Given the description of an element on the screen output the (x, y) to click on. 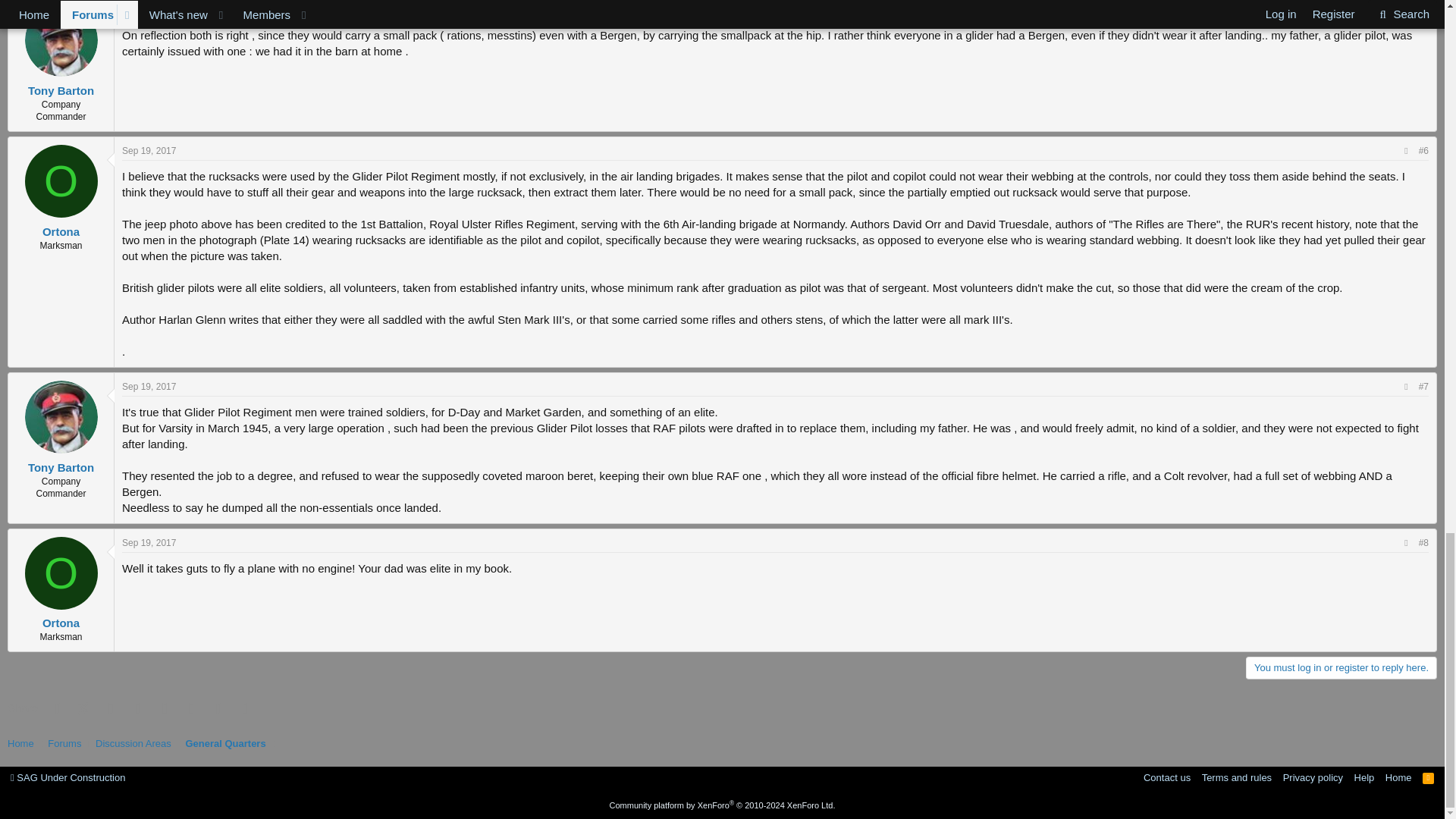
RSS (1428, 777)
Sep 19, 2017 at 7:25 AM (149, 386)
Sep 19, 2017 at 2:26 AM (149, 150)
Sep 19, 2017 at 12:50 PM (149, 542)
Aug 27, 2017 at 7:33 AM (149, 9)
